Given the description of an element on the screen output the (x, y) to click on. 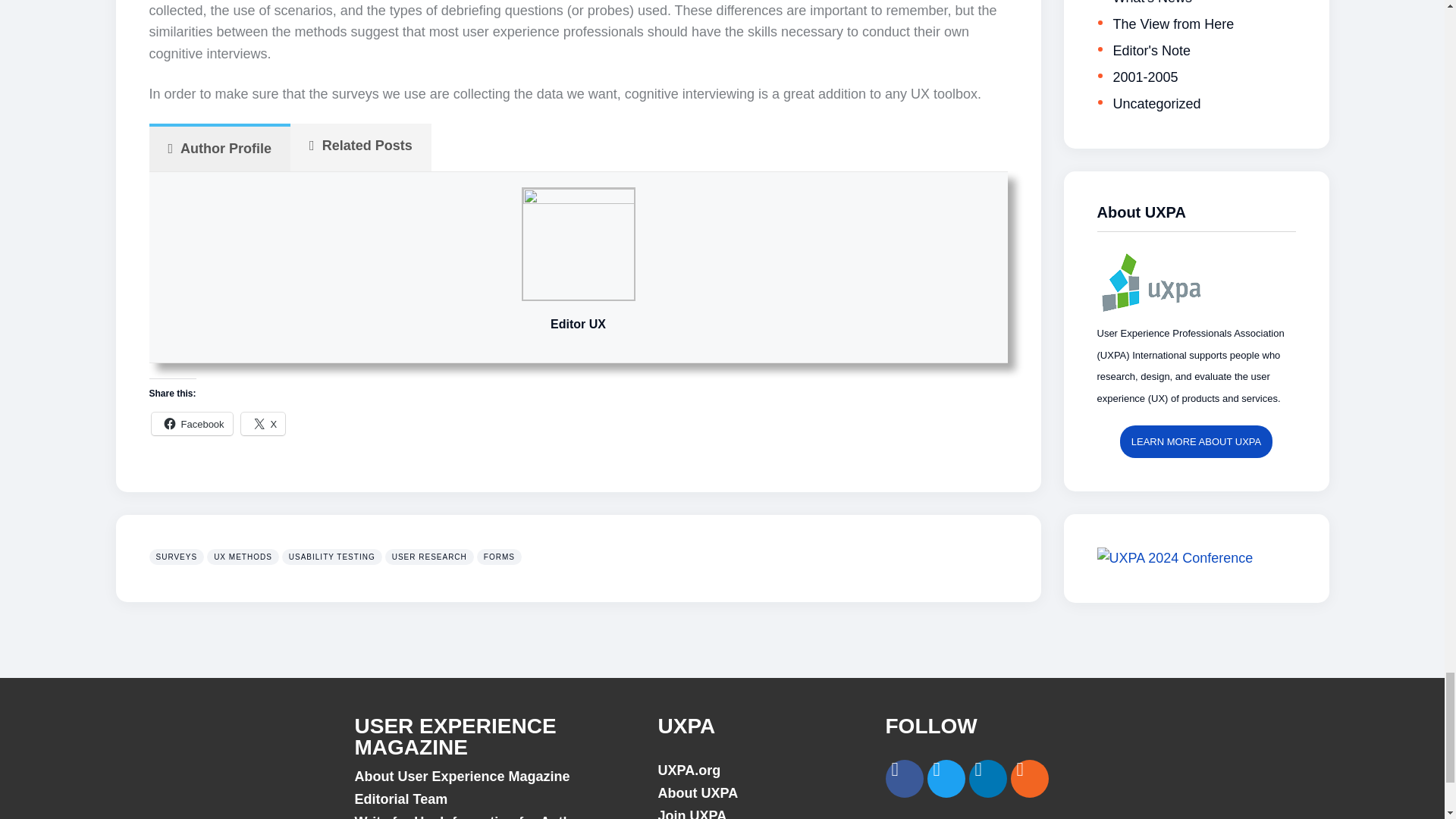
Click to share on X (263, 423)
Click to share on Facebook (191, 423)
